Given the description of an element on the screen output the (x, y) to click on. 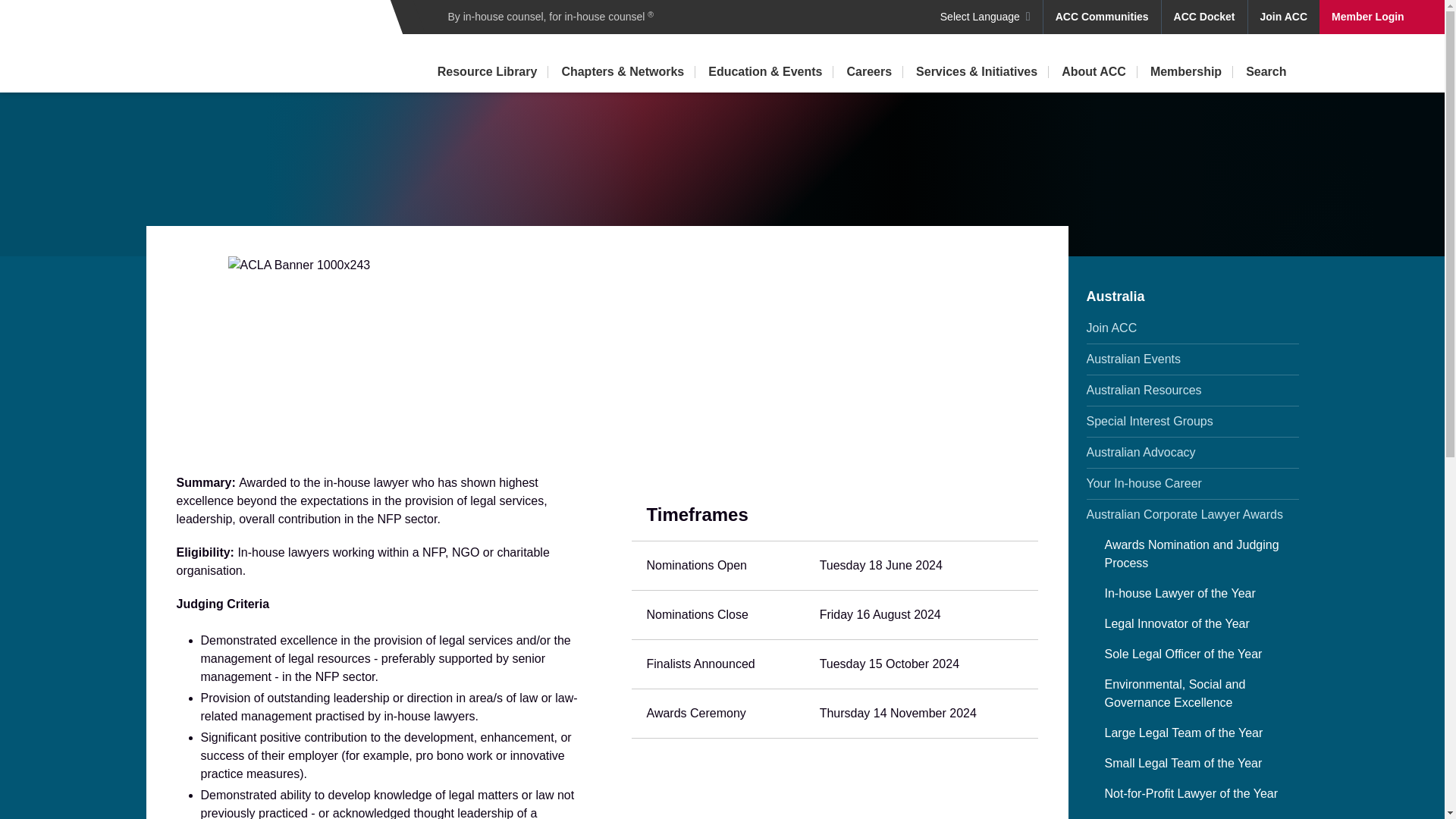
Careers (869, 71)
ACC Australia Region (1192, 296)
ACC Communities (1101, 17)
ACC Australia Advocacy (1192, 452)
ACC Docket (1204, 17)
Join ACC (1283, 17)
Resource Library (487, 71)
ACC Australia Events (1192, 358)
ACC Australia Careers (1192, 483)
